Given the description of an element on the screen output the (x, y) to click on. 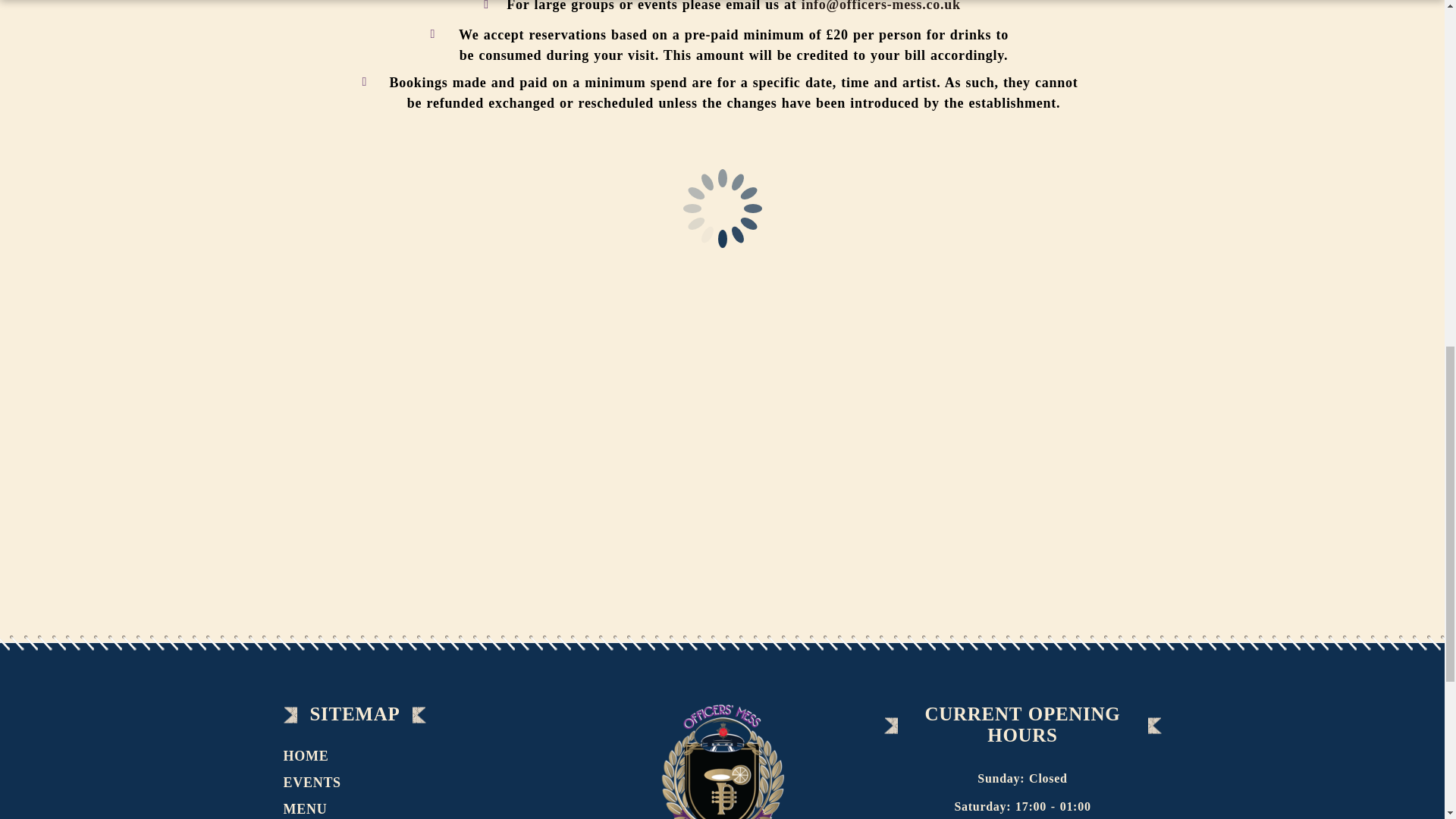
MENU (311, 807)
HOME (311, 755)
EVENTS (317, 782)
